Given the description of an element on the screen output the (x, y) to click on. 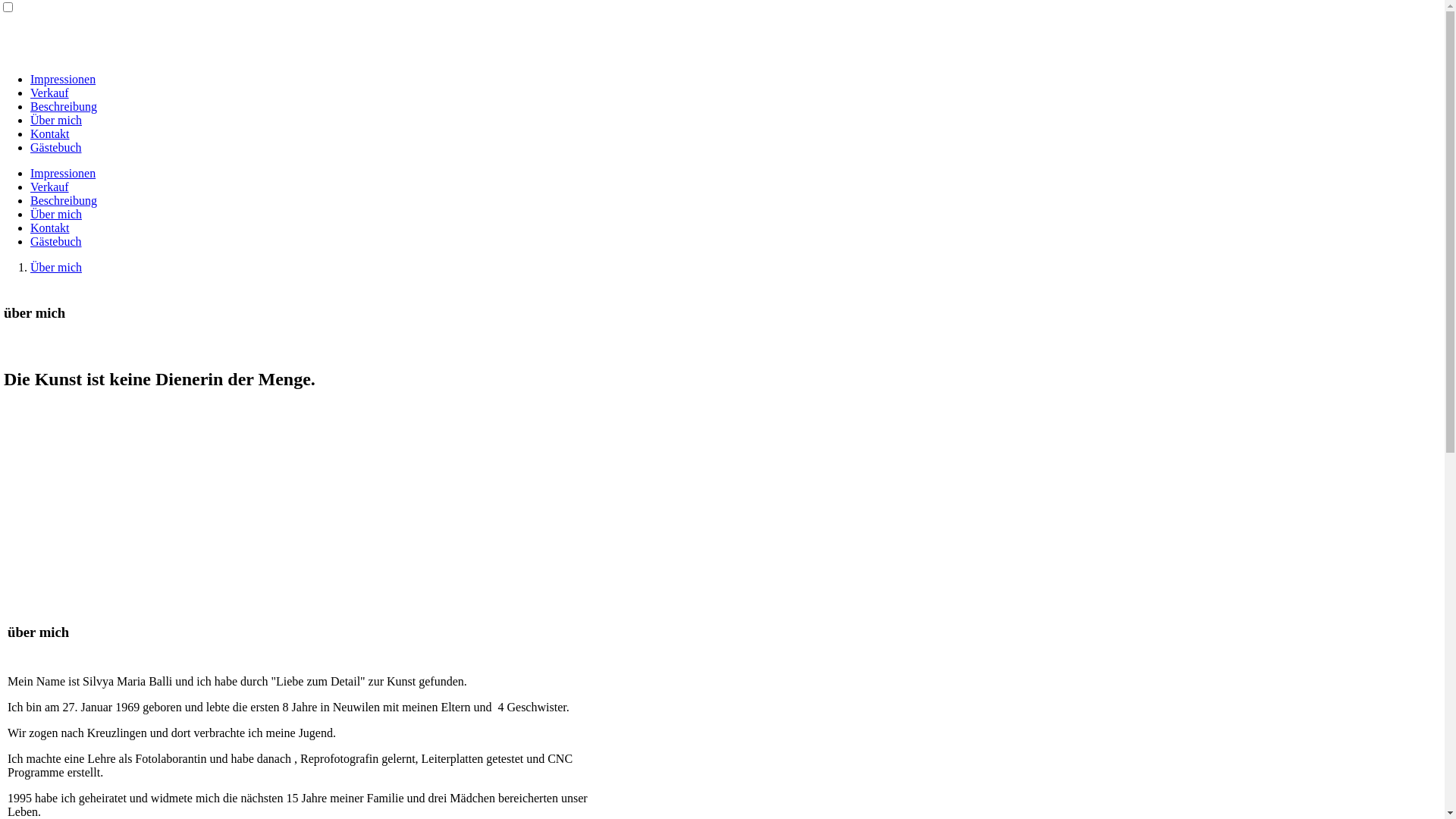
Verkauf Element type: text (49, 92)
Impressionen Element type: text (62, 172)
Kontakt Element type: text (49, 133)
Impressionen Element type: text (62, 78)
Kontakt Element type: text (49, 227)
Beschreibung Element type: text (63, 200)
Verkauf Element type: text (49, 186)
Beschreibung Element type: text (63, 106)
